Given the description of an element on the screen output the (x, y) to click on. 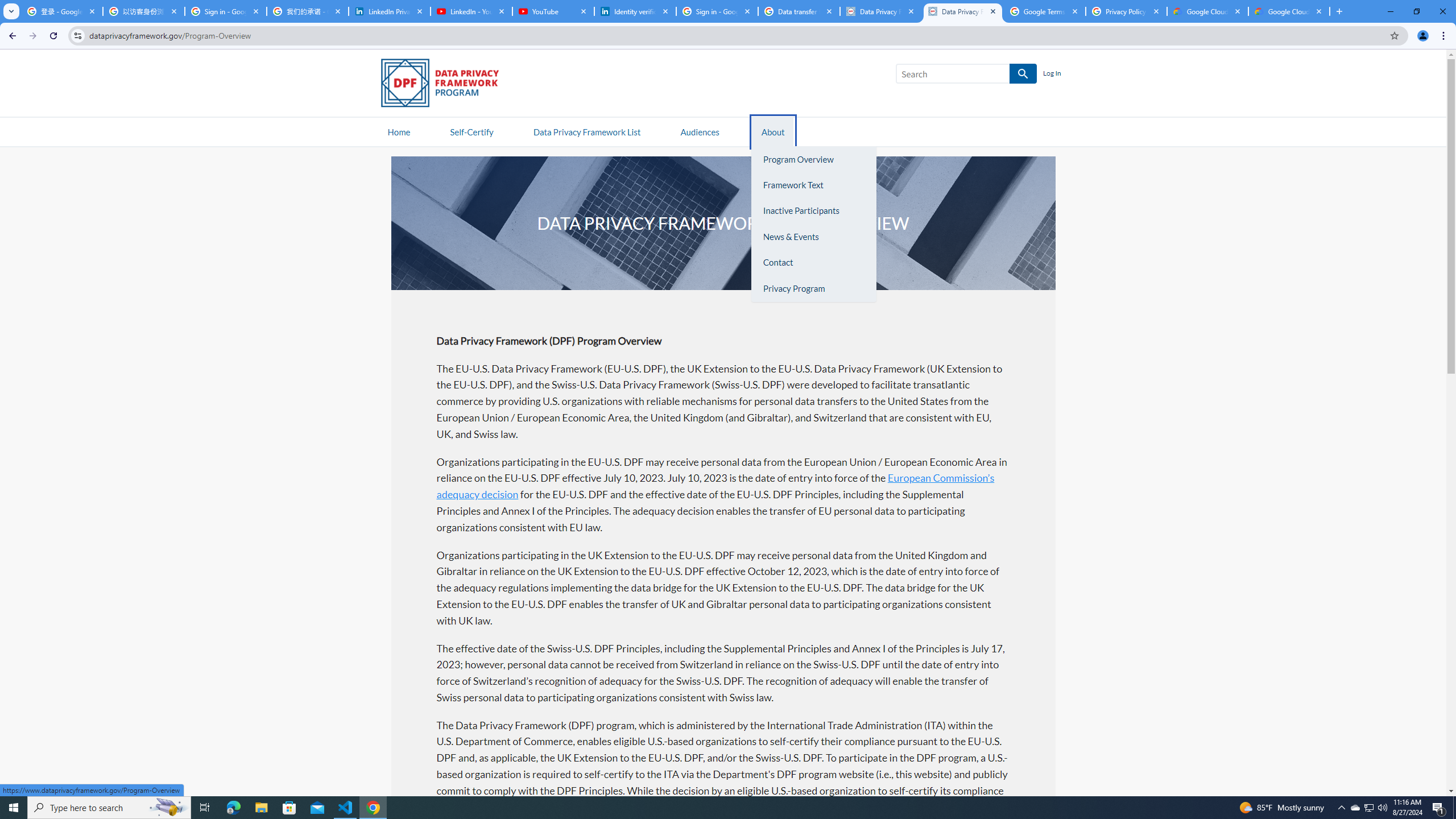
Google Cloud Privacy Notice (1289, 11)
Data Privacy Framework (963, 11)
Data Privacy Framework (880, 11)
Audiences (699, 131)
